Given the description of an element on the screen output the (x, y) to click on. 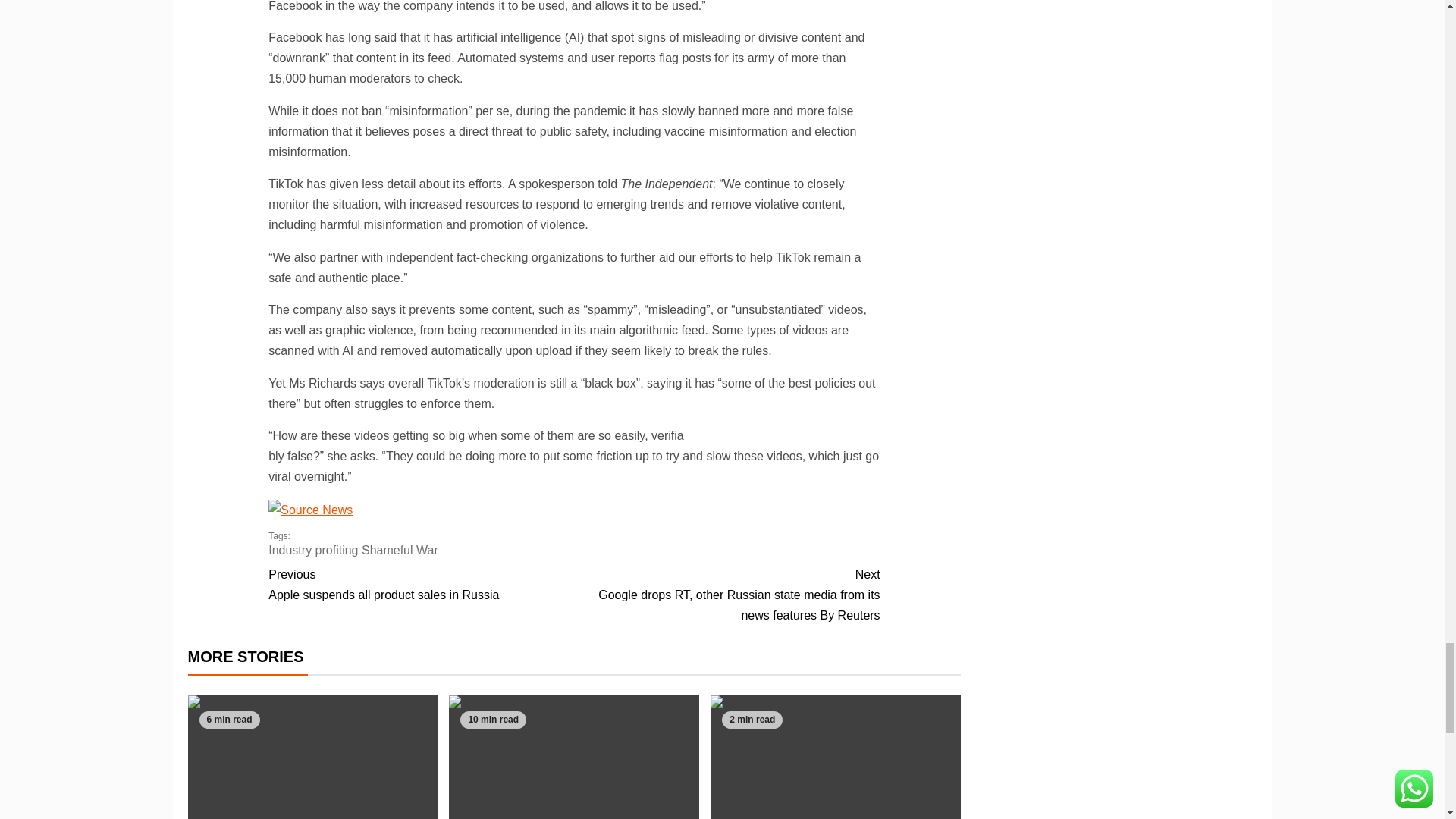
Angular 16 to improve server-side rendering (835, 757)
Best 6 Plagiarism Checker Tools for 2023 (573, 757)
